Given the description of an element on the screen output the (x, y) to click on. 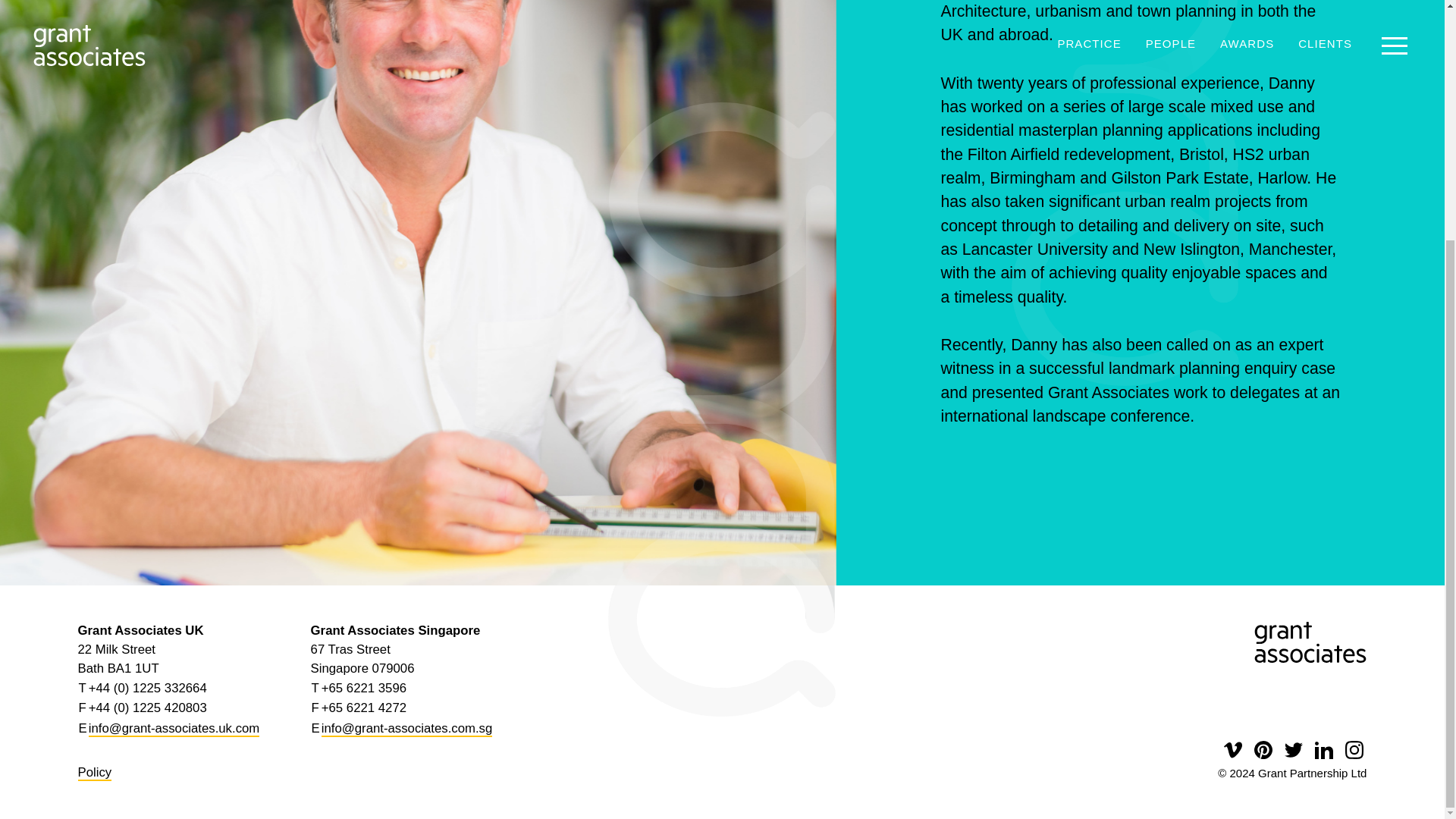
Policy (95, 772)
